Given the description of an element on the screen output the (x, y) to click on. 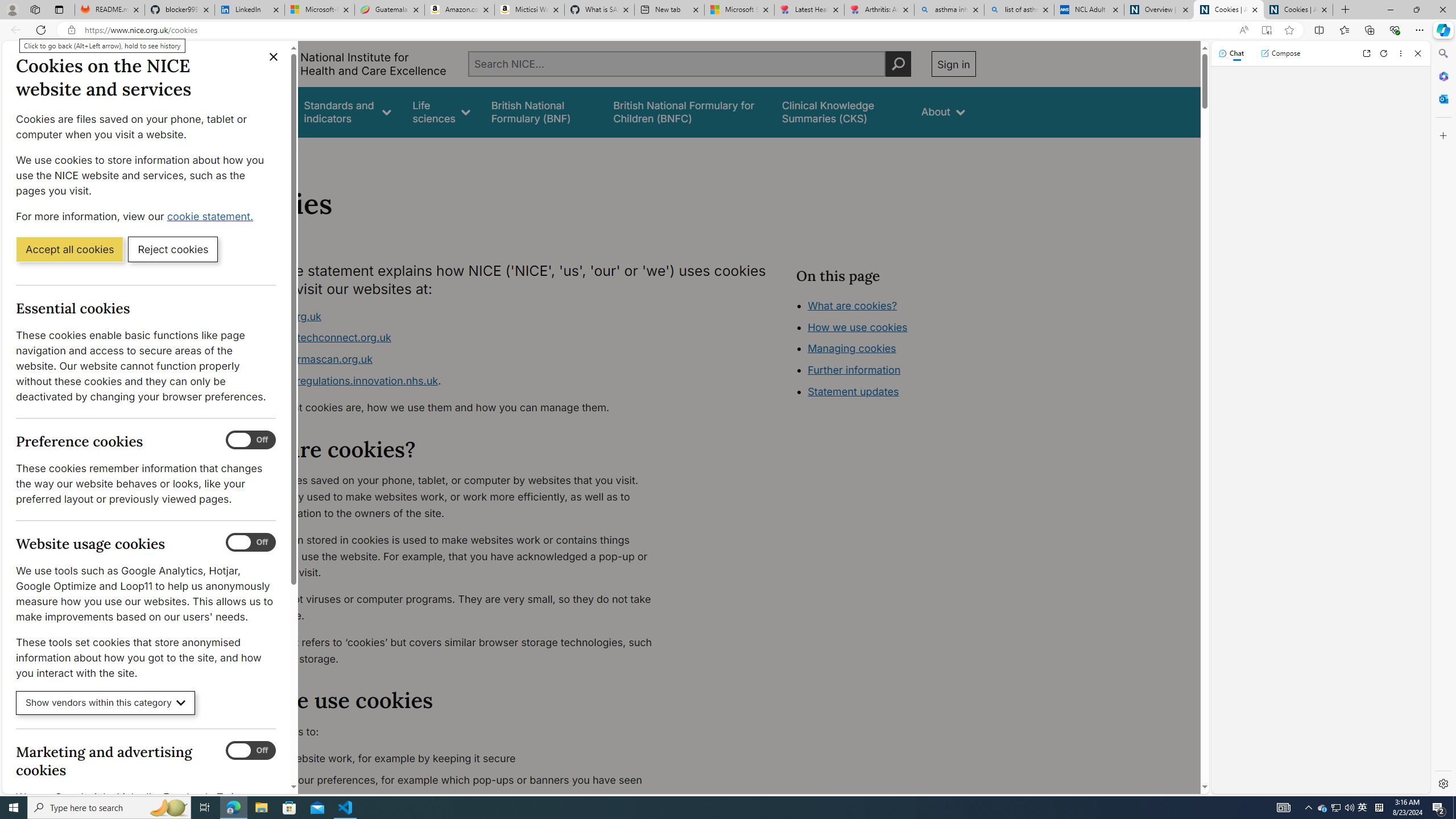
www.nice.org.uk (279, 315)
